Given the description of an element on the screen output the (x, y) to click on. 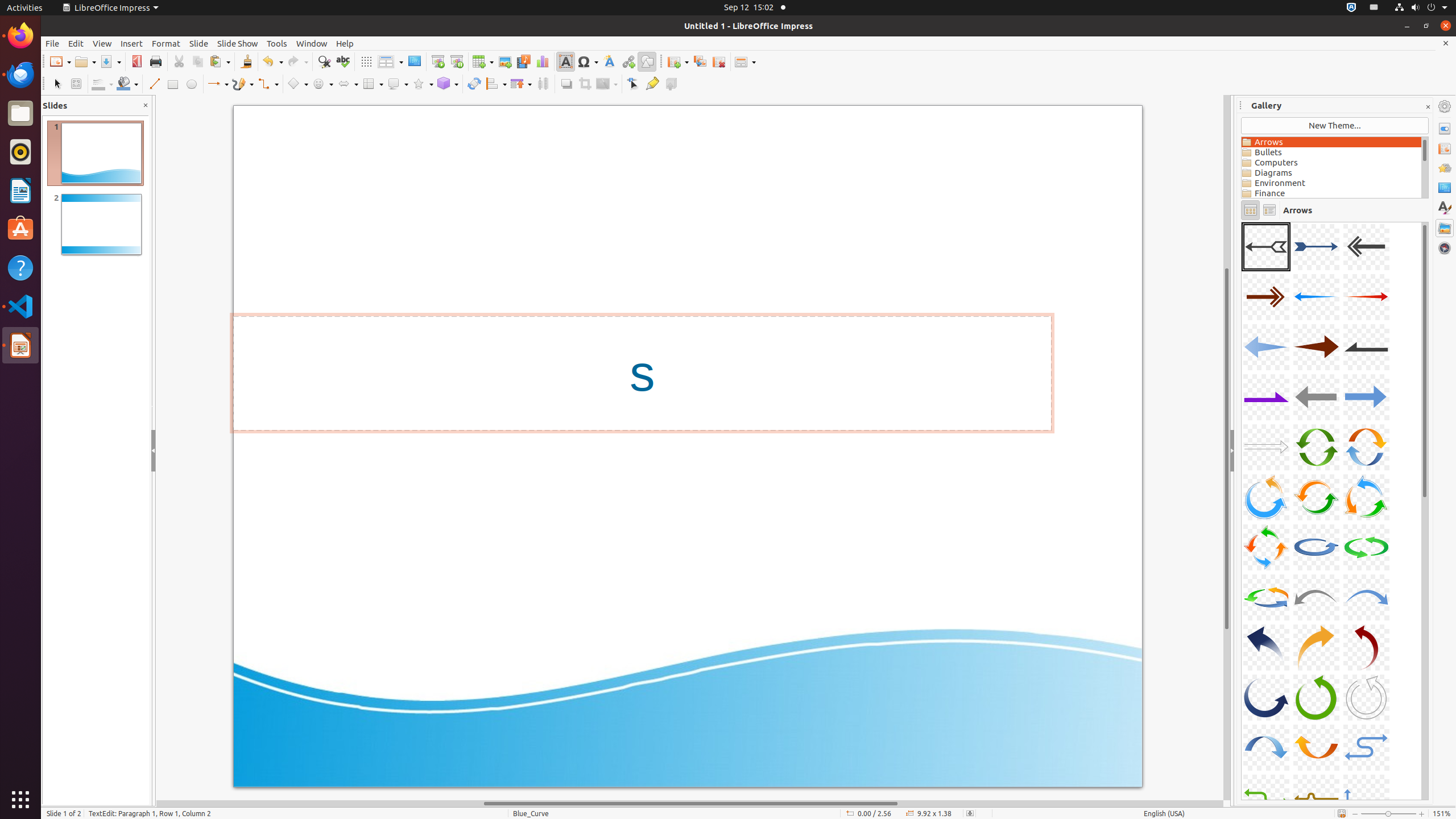
A28-CurvedArrow-DarkBlue Element type: list-item (1265, 696)
A18-CircleArrow Element type: list-item (1365, 496)
Animation Element type: radio-button (1444, 168)
Bullets Element type: list-item (1331, 152)
New Element type: push-button (59, 61)
